Given the description of an element on the screen output the (x, y) to click on. 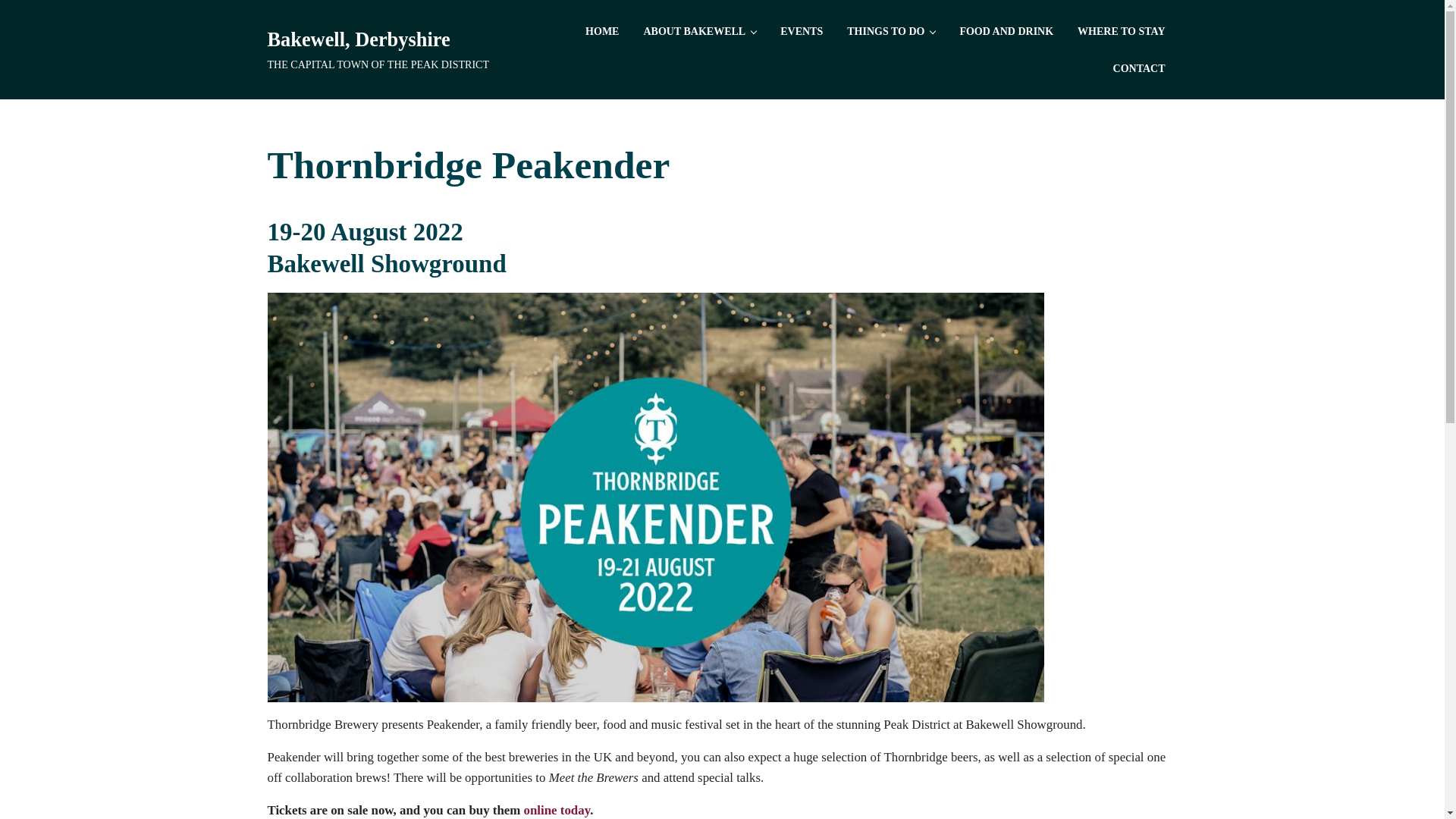
EVENTS (801, 31)
THINGS TO DO (890, 31)
Bakewell, Derbyshire (357, 39)
WHERE TO STAY (1120, 31)
FOOD AND DRINK (1006, 31)
HOME (601, 31)
ABOUT BAKEWELL (699, 31)
CONTACT (1138, 67)
